Given the description of an element on the screen output the (x, y) to click on. 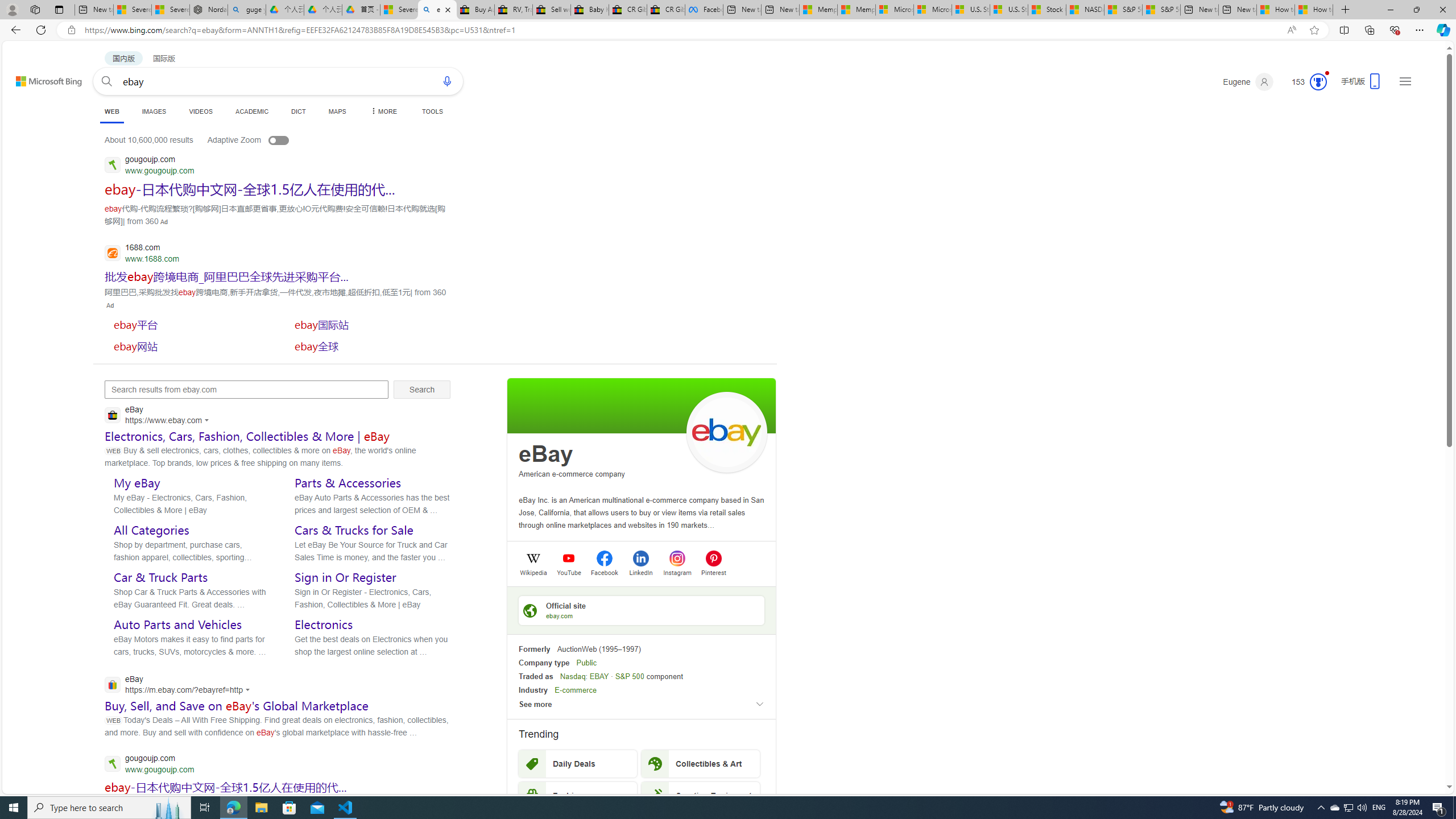
Sporting Equipment (701, 795)
Search using voice (446, 80)
SERP,5710 (225, 276)
Electronics (323, 624)
